Given the description of an element on the screen output the (x, y) to click on. 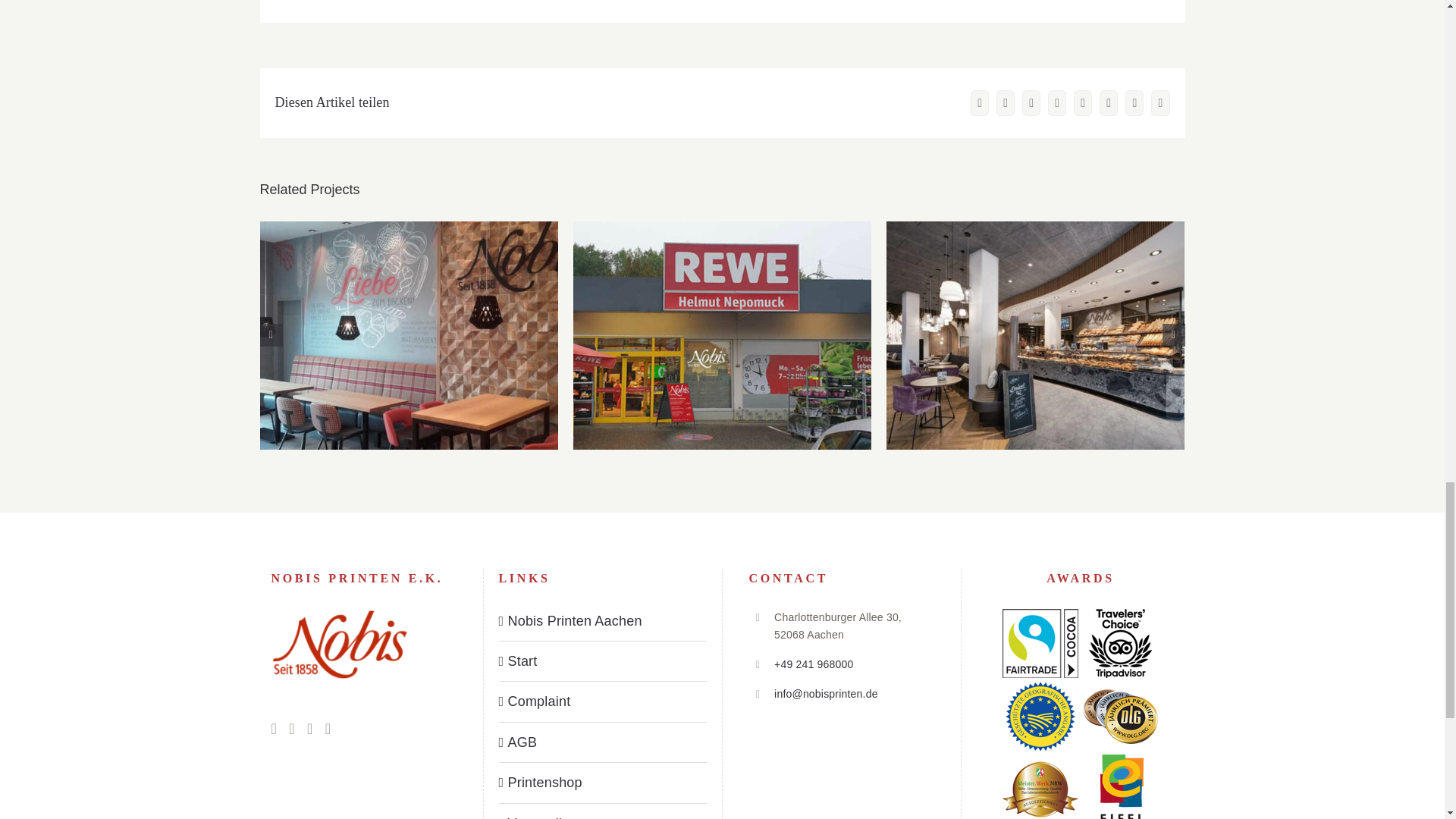
NOBIS PRINTEN E.K. (338, 644)
